Given the description of an element on the screen output the (x, y) to click on. 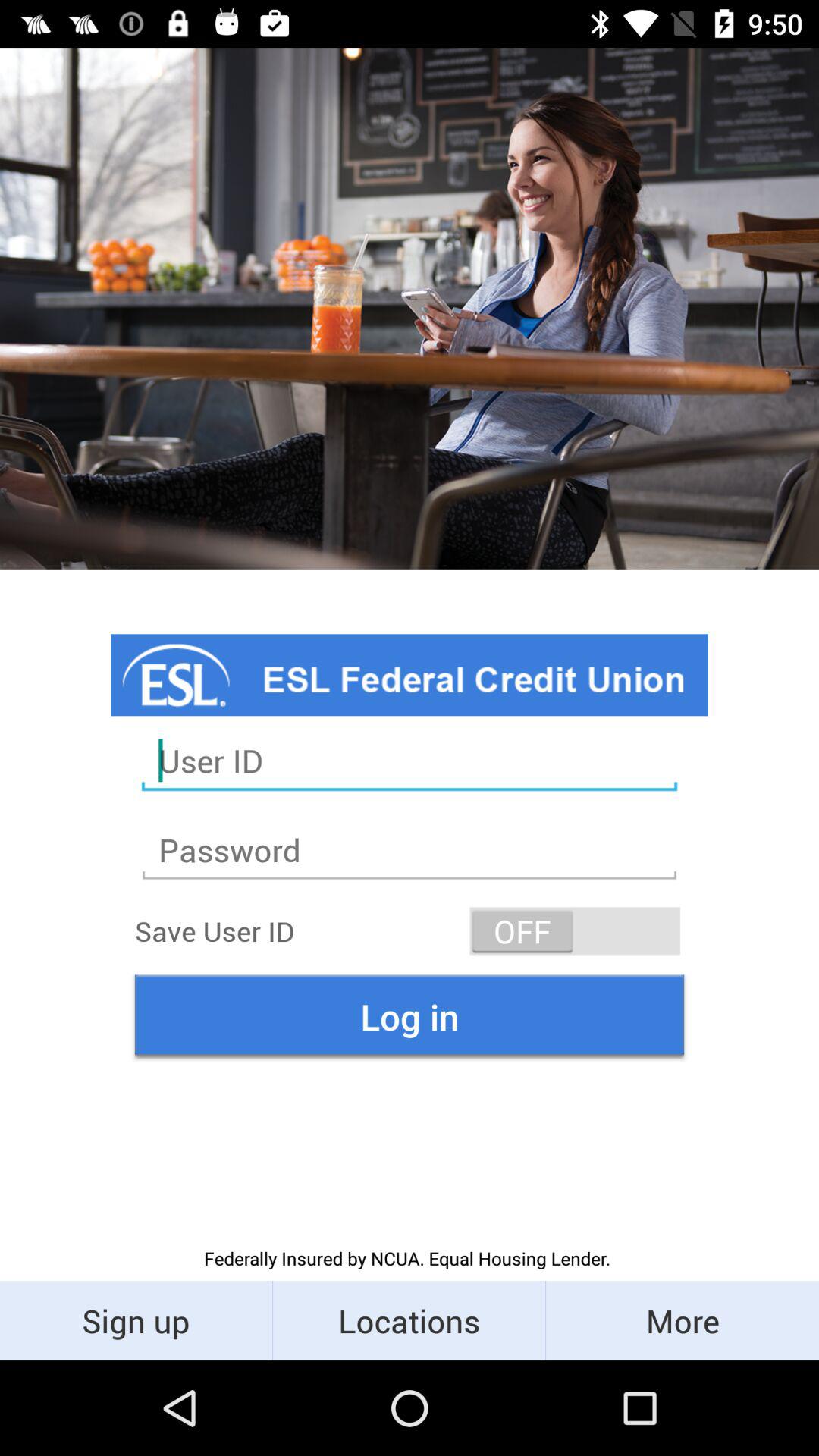
jump until the more icon (682, 1320)
